Given the description of an element on the screen output the (x, y) to click on. 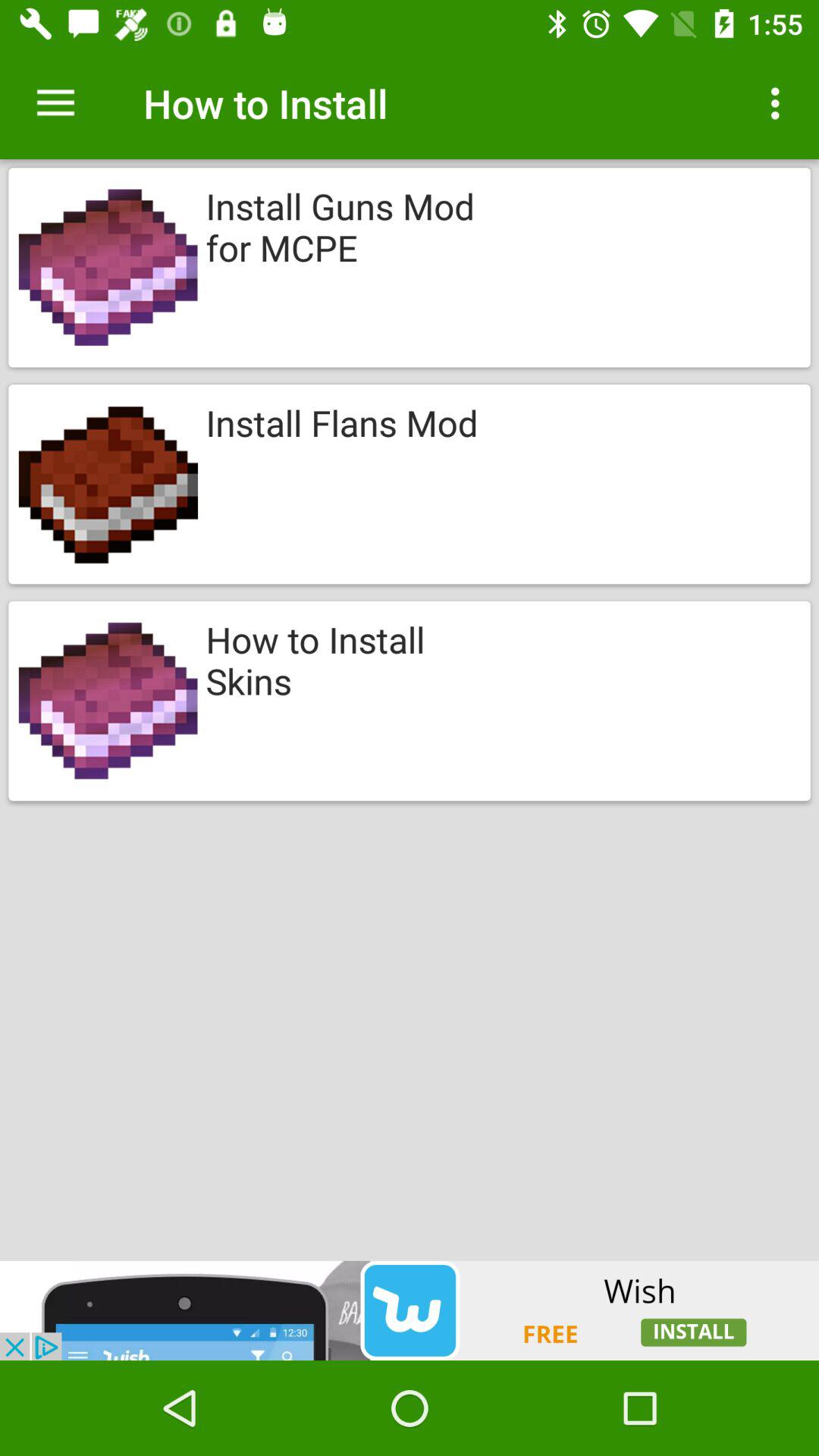
get the wish ap (409, 1310)
